Given the description of an element on the screen output the (x, y) to click on. 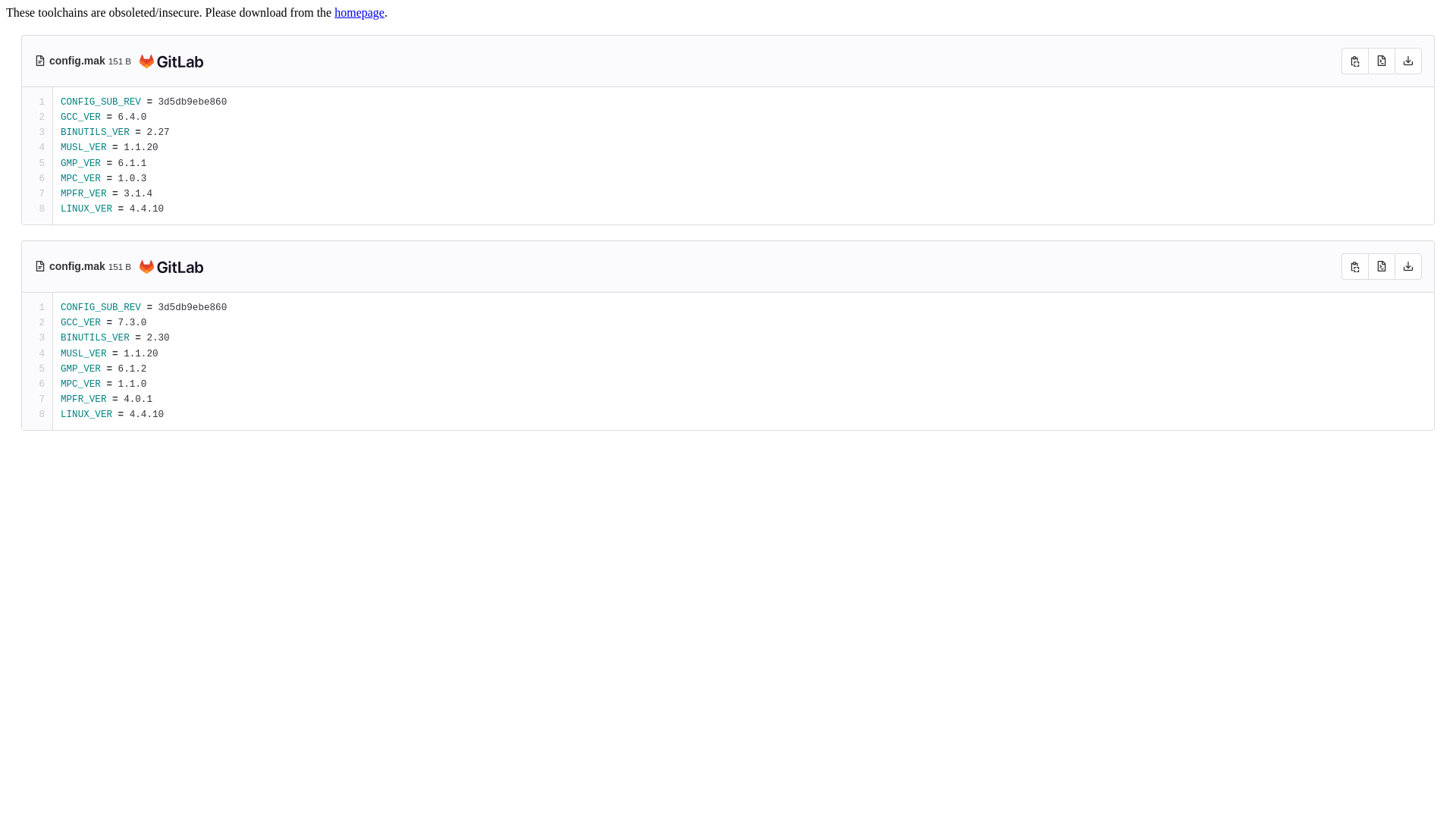
config.mak Element type: text (78, 60)
homepage Element type: text (359, 12)
Download Element type: hover (1407, 60)
config.mak Element type: text (78, 266)
View on GitLab Element type: hover (167, 267)
View on GitLab Element type: hover (167, 62)
Copy snippet contents Element type: hover (1354, 266)
Download Element type: hover (1407, 266)
Open raw Element type: hover (1381, 266)
Copy snippet contents Element type: hover (1354, 60)
Open raw Element type: hover (1381, 60)
